Given the description of an element on the screen output the (x, y) to click on. 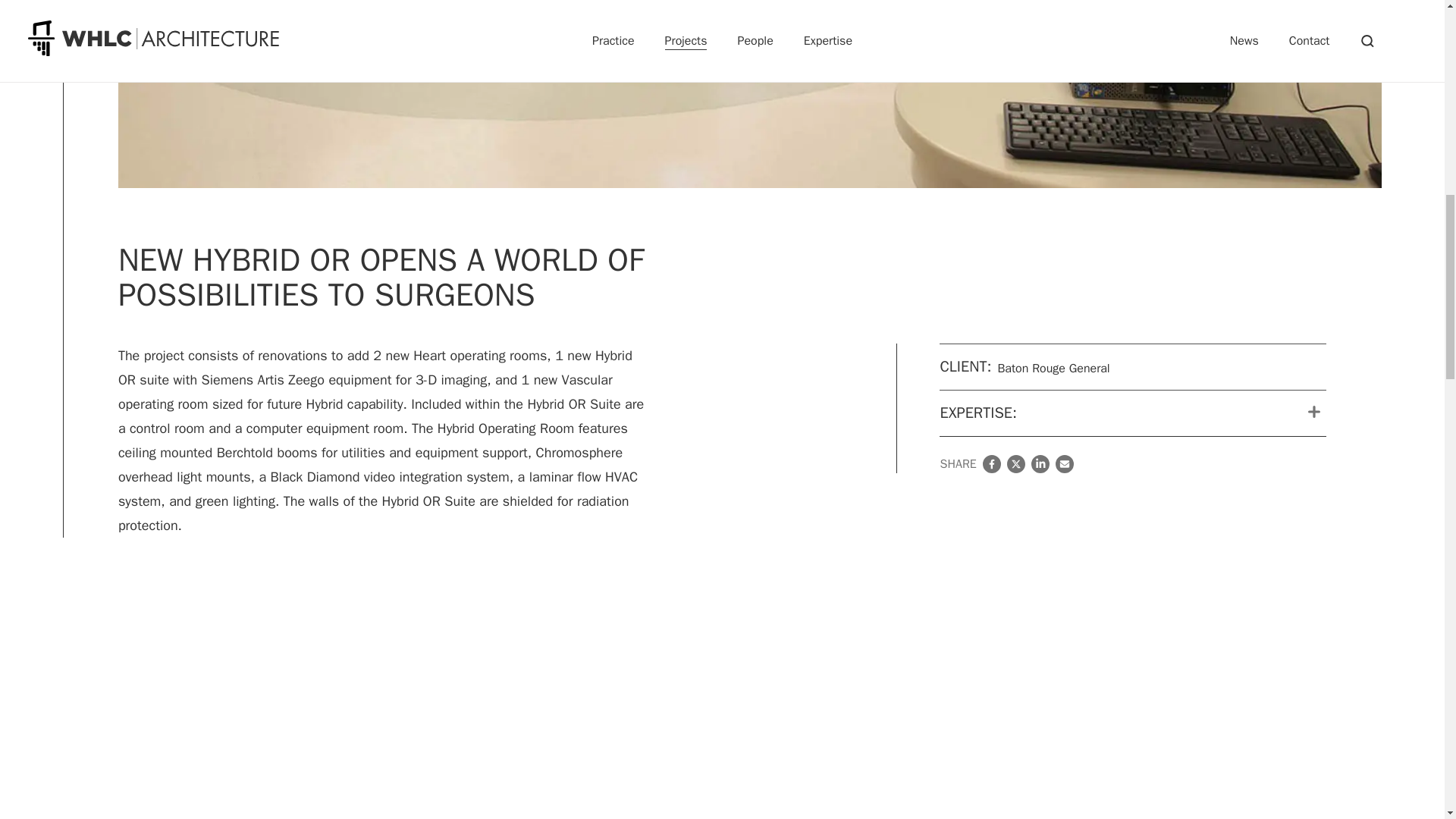
Expand (1313, 410)
facebook (991, 464)
email (1064, 464)
Baton Rouge General (1053, 368)
LinkedIn (1039, 464)
twitter (1016, 464)
